Given the description of an element on the screen output the (x, y) to click on. 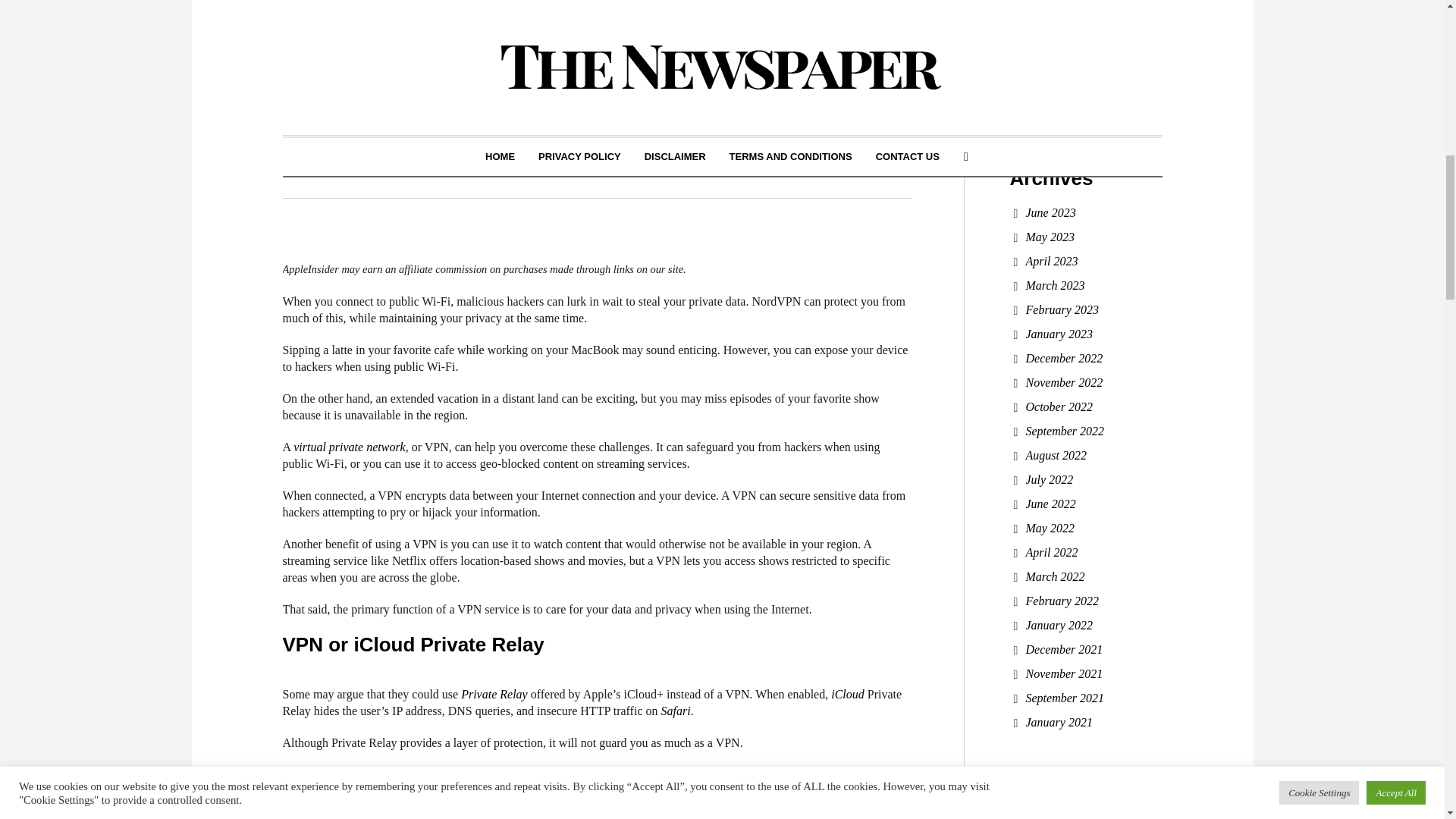
Safari (675, 710)
May 2023 (1049, 236)
Safari (675, 710)
Private Relay (494, 694)
virtual private network (350, 446)
iCloud (847, 694)
June 2023 (1050, 212)
NordVPN 8.6 review: Protect your data on public Wi-Fi (596, 13)
iCloud (847, 694)
